Given the description of an element on the screen output the (x, y) to click on. 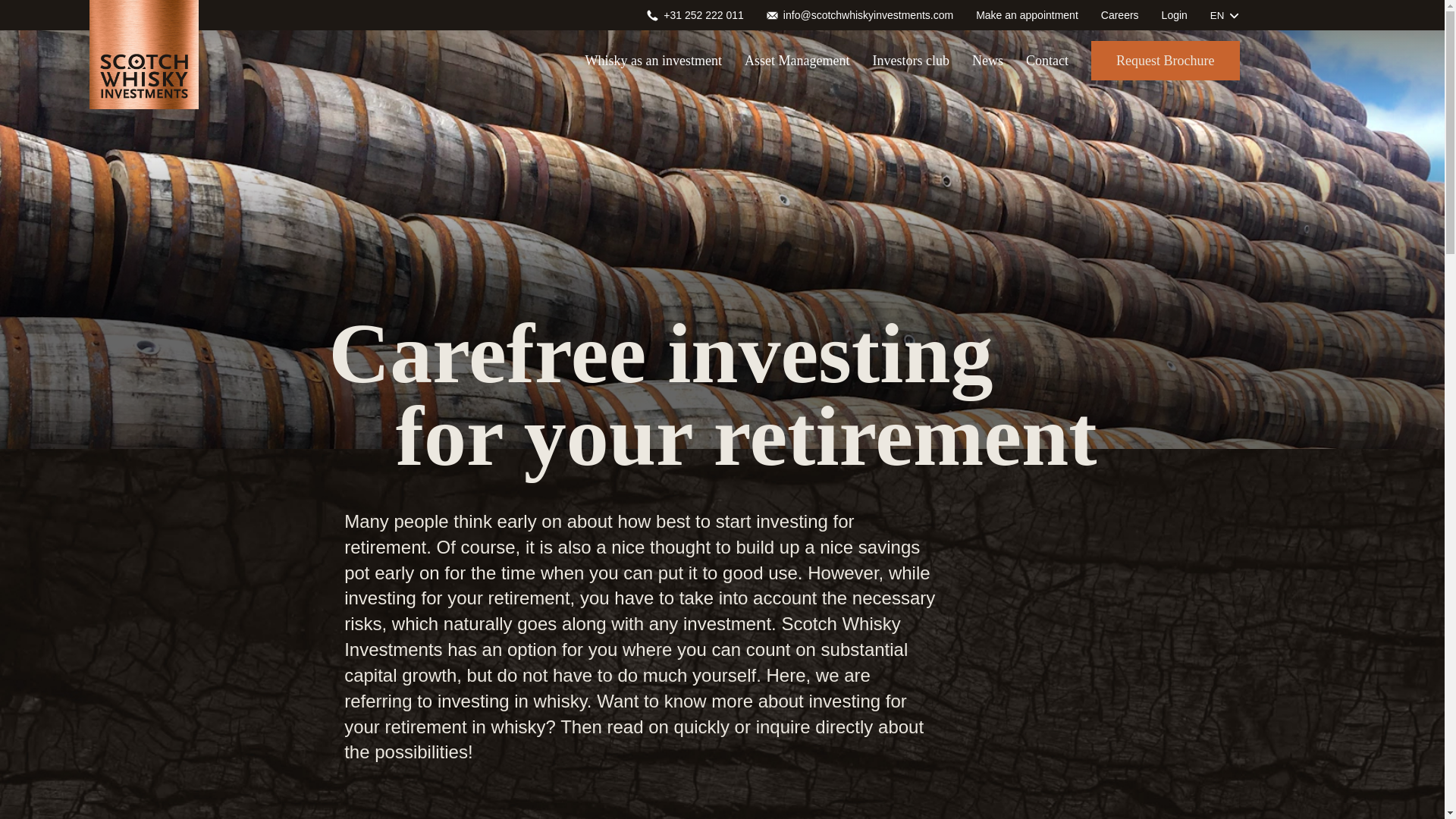
Asset Management (796, 60)
Request Brochure (1164, 60)
Login (1174, 14)
Careers (1119, 14)
EN (1224, 14)
Contact (1047, 60)
Make an appointment (1026, 14)
Whisky as an investment (653, 60)
News (987, 60)
Investors club (910, 60)
